Given the description of an element on the screen output the (x, y) to click on. 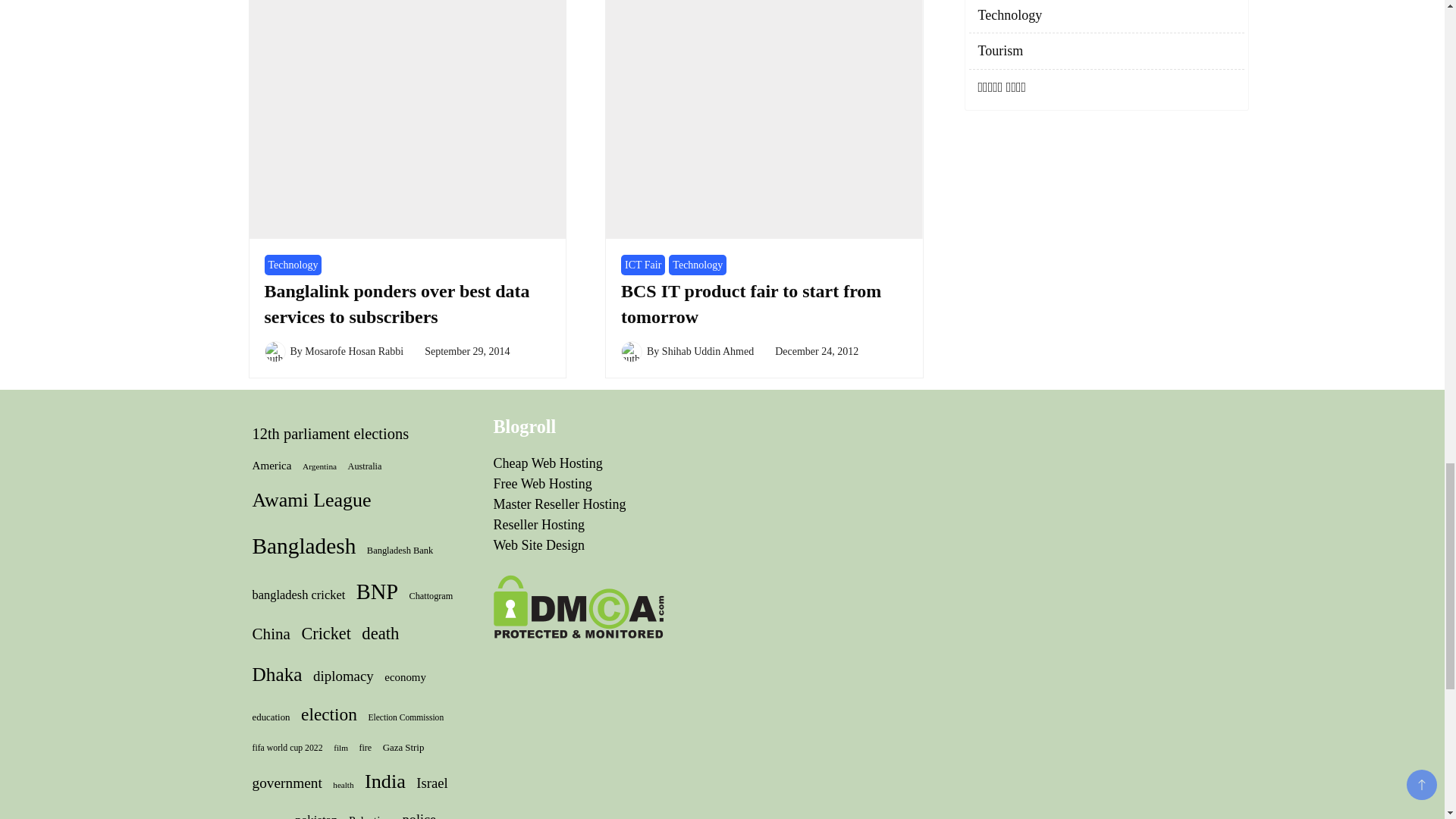
Master Reseller Hosting (559, 503)
Cheap Web Hosting (547, 462)
Web Site Design (539, 544)
Reseller Hosting (538, 524)
DMCA.com Protection Program (578, 584)
